Given the description of an element on the screen output the (x, y) to click on. 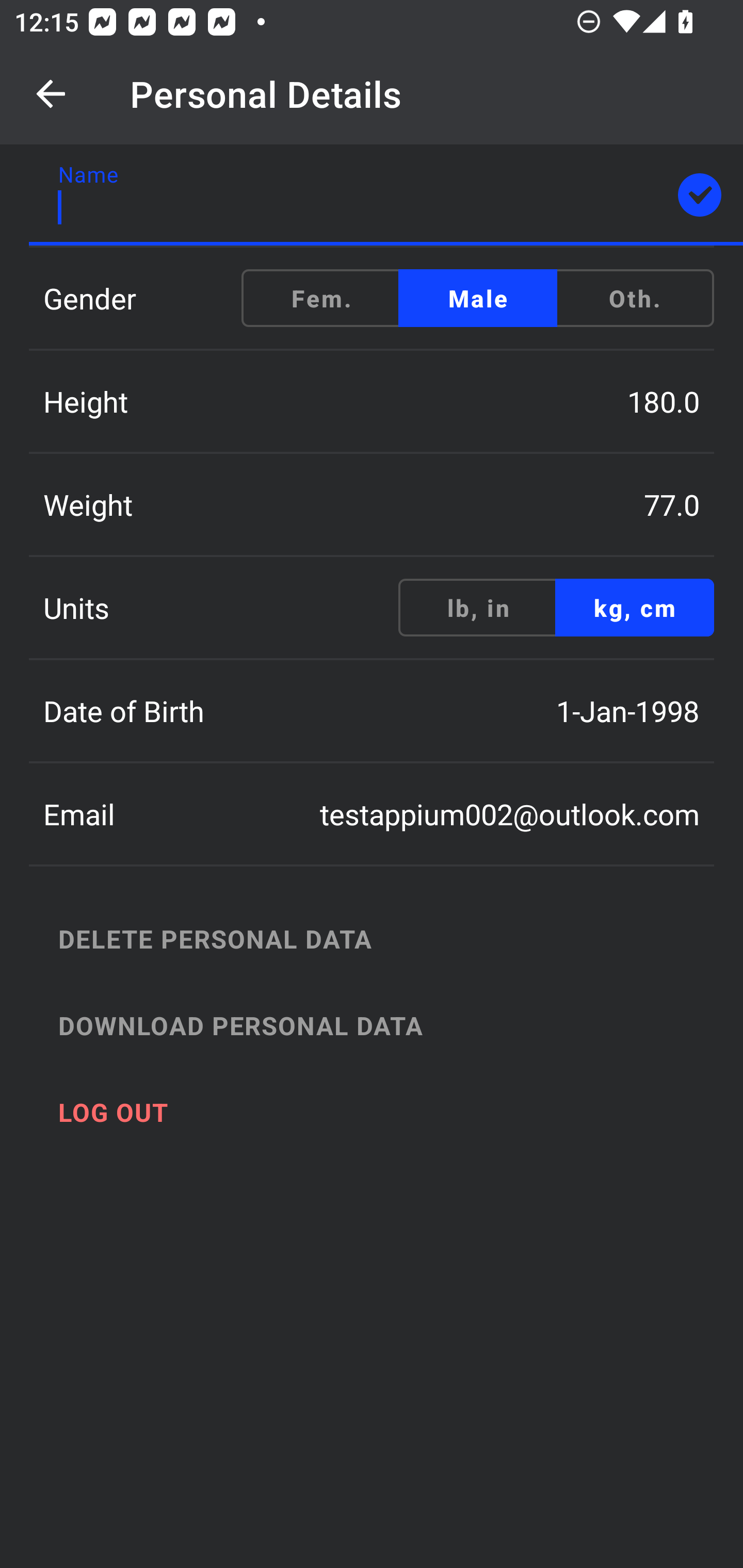
Name (385, 195)
Fem. (320, 298)
Male (477, 298)
Oth. (634, 298)
Height 180.0 (371, 401)
Weight 77.0 (371, 504)
lb, in (477, 607)
kg, cm (634, 607)
Date of Birth 1-Jan-1998 (371, 711)
Email testappium002@outlook.com (371, 813)
DELETE PERSONAL DATA (393, 938)
DOWNLOAD PERSONAL DATA (393, 1025)
LOG OUT (393, 1112)
